Given the description of an element on the screen output the (x, y) to click on. 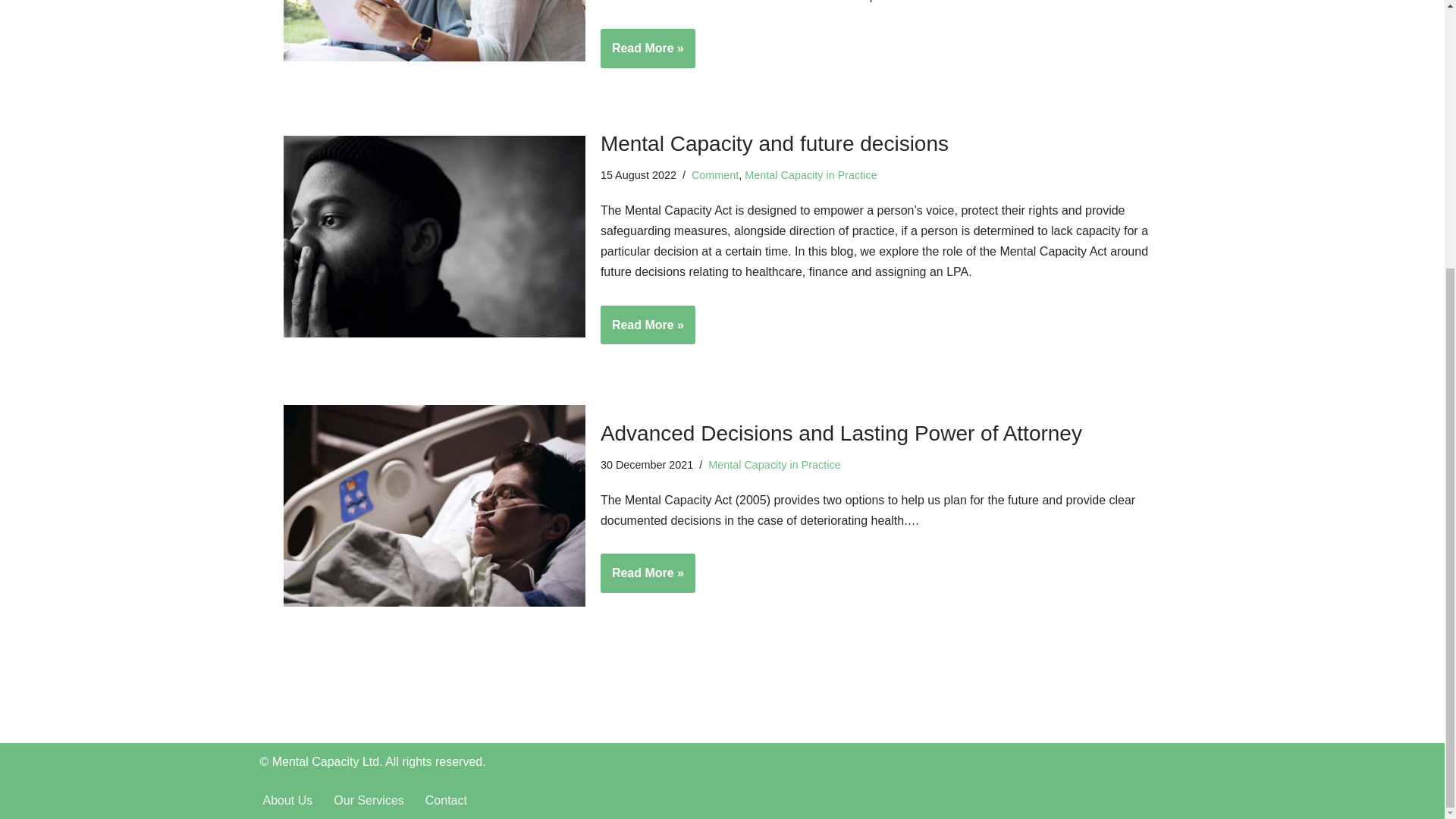
Advanced Decisions and Lasting Power of Attorney (434, 505)
Understanding the difference between LPA and Deputy (434, 30)
Mental Capacity and future decisions (434, 235)
